Given the description of an element on the screen output the (x, y) to click on. 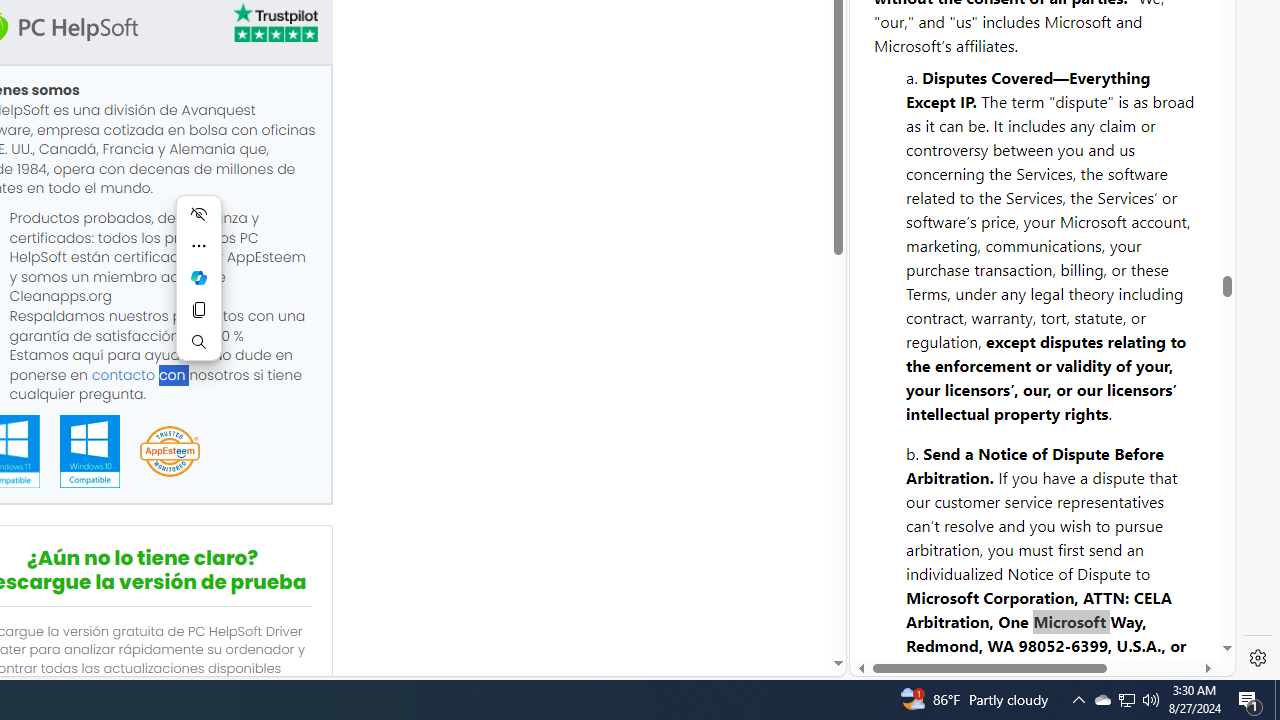
Legal (991, 602)
More actions (198, 245)
Advertise (1066, 602)
Feedback (1154, 611)
Mini menu on text selection (198, 277)
Copy (198, 309)
contacto (123, 374)
Feedback (1155, 602)
Mini menu on text selection (198, 290)
Privacy (922, 611)
